Given the description of an element on the screen output the (x, y) to click on. 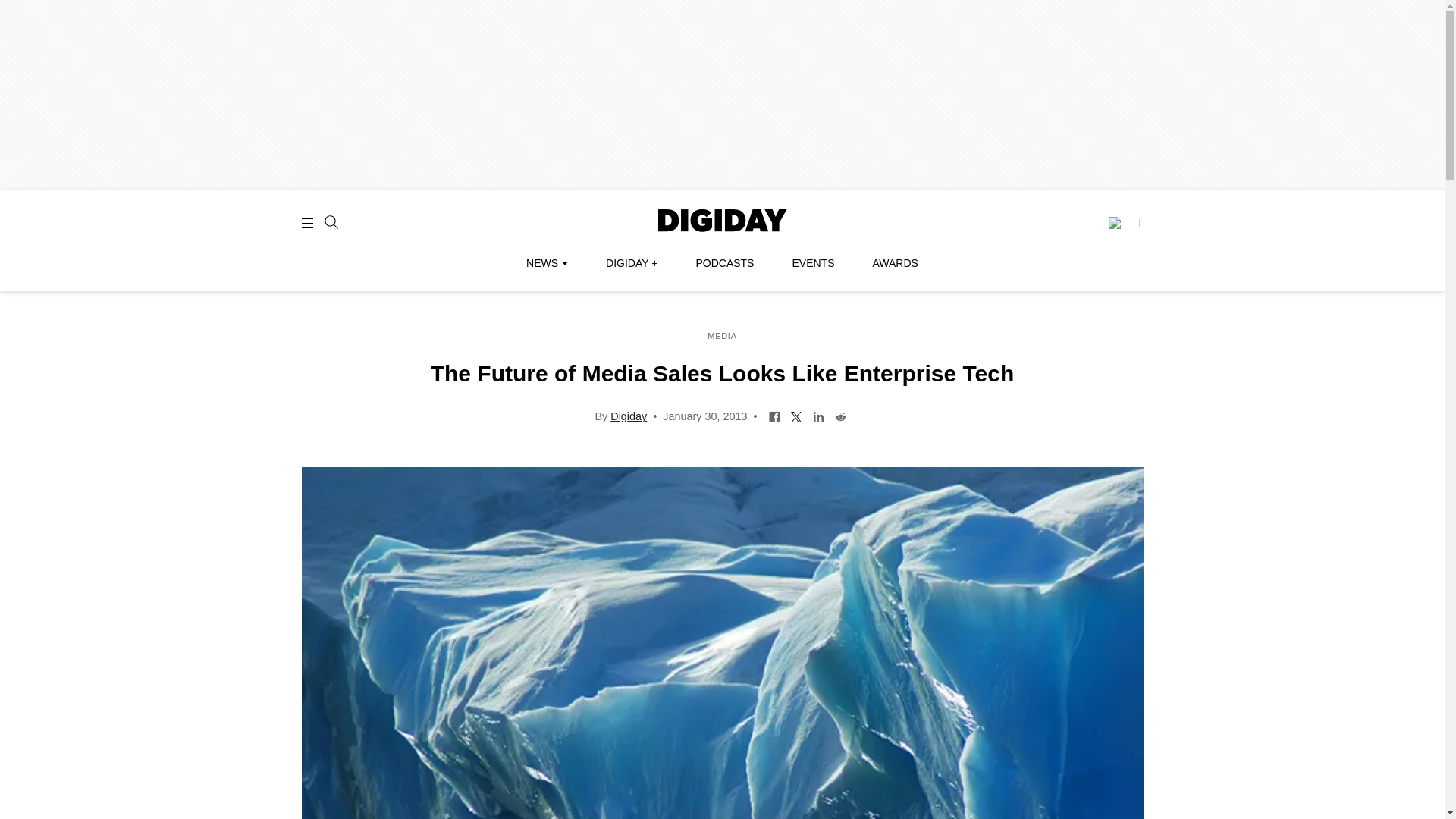
Share on Facebook (774, 415)
PODCASTS (725, 262)
Share on LinkedIn (818, 415)
EVENTS (813, 262)
Subscribe (1123, 223)
AWARDS (894, 262)
Share on Reddit (840, 415)
NEWS (546, 262)
Share on Twitter (796, 415)
